Given the description of an element on the screen output the (x, y) to click on. 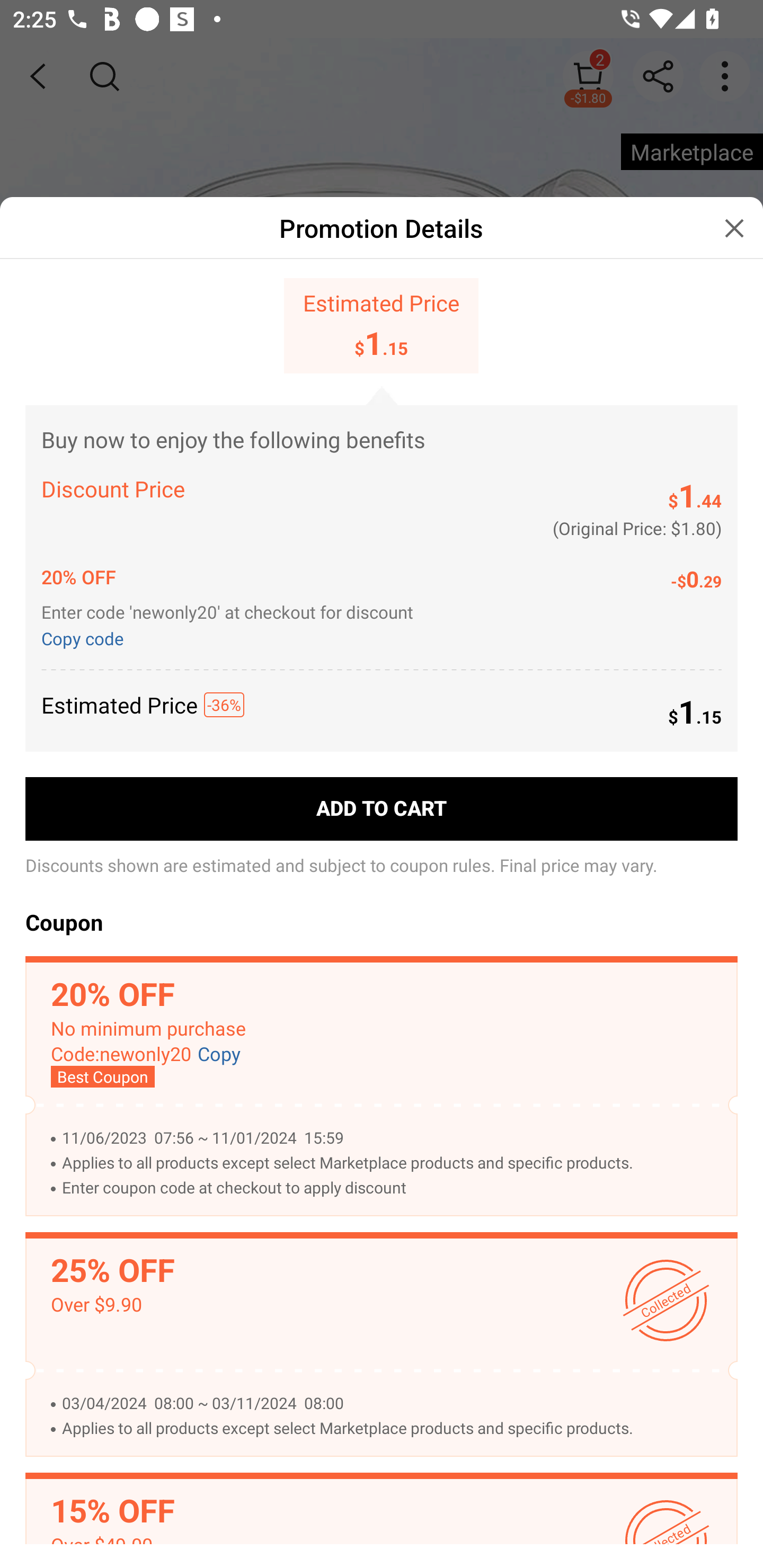
Close (734, 227)
Copy code (85, 637)
ADD TO CART (381, 808)
Copy (219, 1054)
11/06/2023  07:56 ~ 11/01/2024  15:59 (389, 1137)
Enter coupon code at checkout to apply discount (389, 1188)
03/04/2024  08:00 ~ 03/11/2024  08:00 (389, 1402)
